Given the description of an element on the screen output the (x, y) to click on. 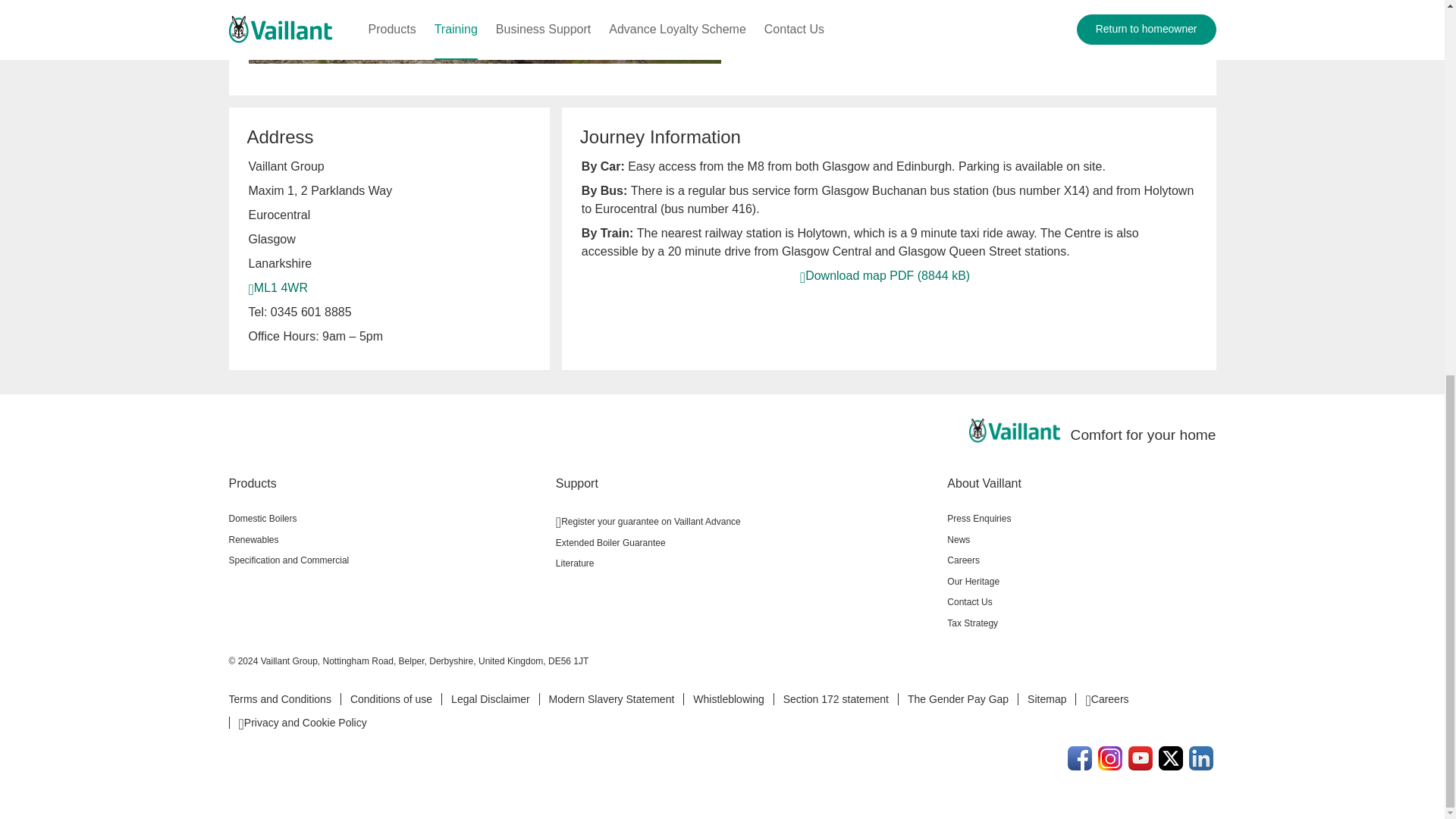
Youtube (1140, 758)
Download map PDF (884, 275)
Vaillant (1015, 430)
Instagram (1109, 758)
Linkedin (1200, 758)
Facebook (1079, 758)
Twitter (1170, 758)
